Given the description of an element on the screen output the (x, y) to click on. 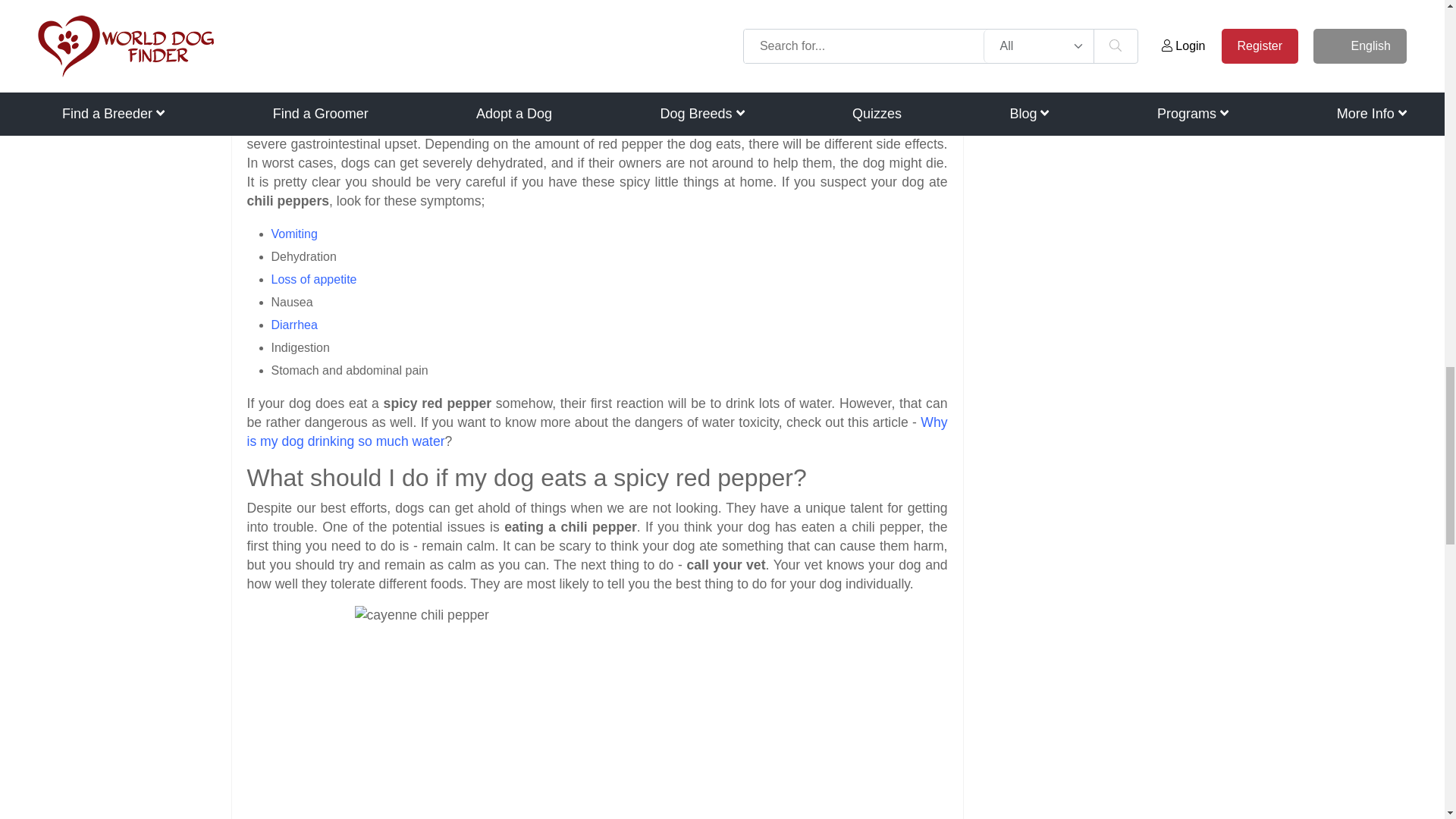
Vomiting (293, 233)
Why is my dog drinking so much water (597, 431)
Loss of appetite (313, 278)
Diarrhea (293, 324)
